Given the description of an element on the screen output the (x, y) to click on. 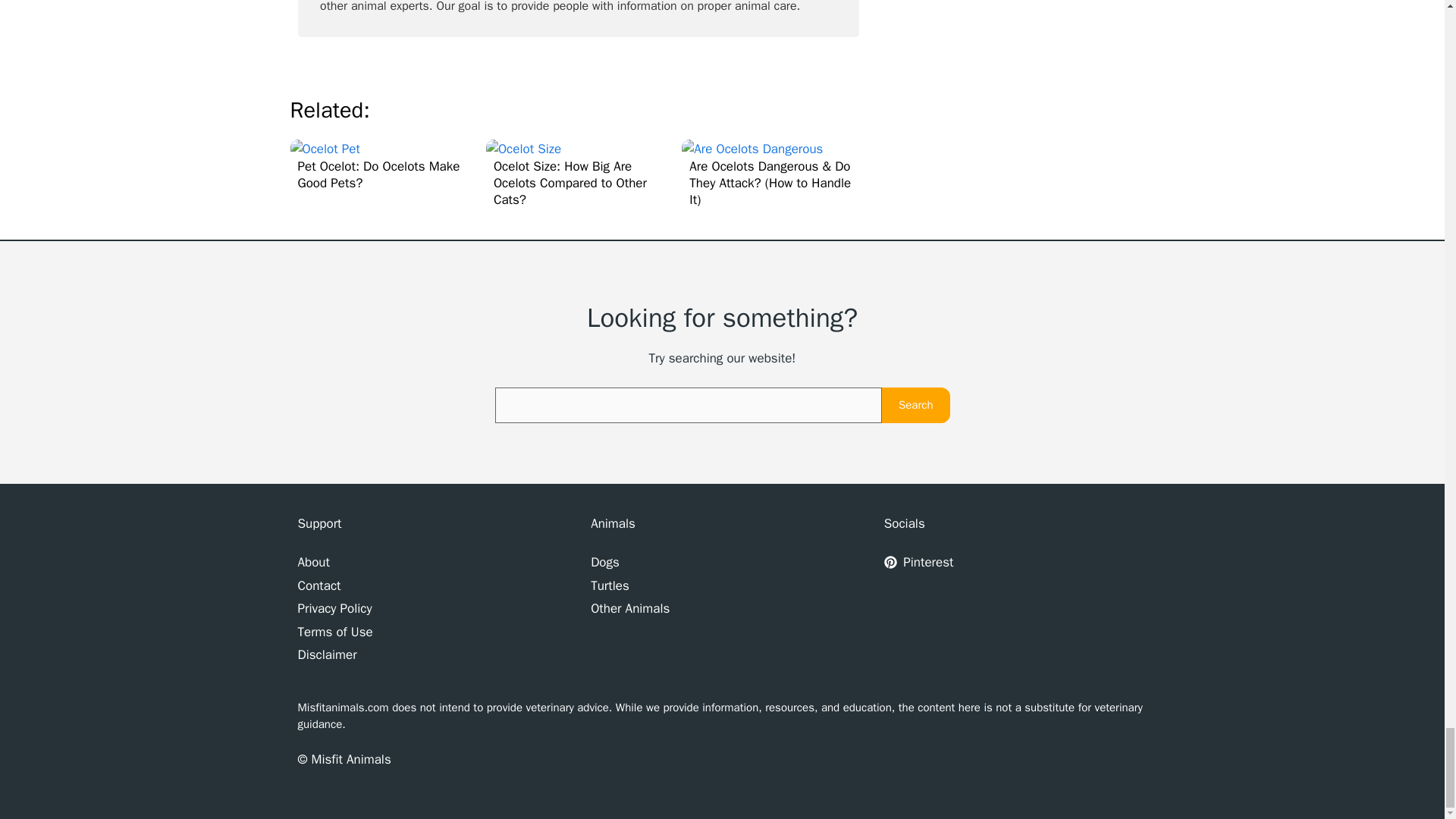
Ocelot Size: How Big Are Ocelots Compared to Other Cats? (577, 174)
Pet Ocelot: Do Ocelots Make Good Pets? (324, 148)
Pet Ocelot: Do Ocelots Make Good Pets? (381, 165)
Ocelot Size: How Big Are Ocelots Compared to Other Cats? (523, 148)
